Given the description of an element on the screen output the (x, y) to click on. 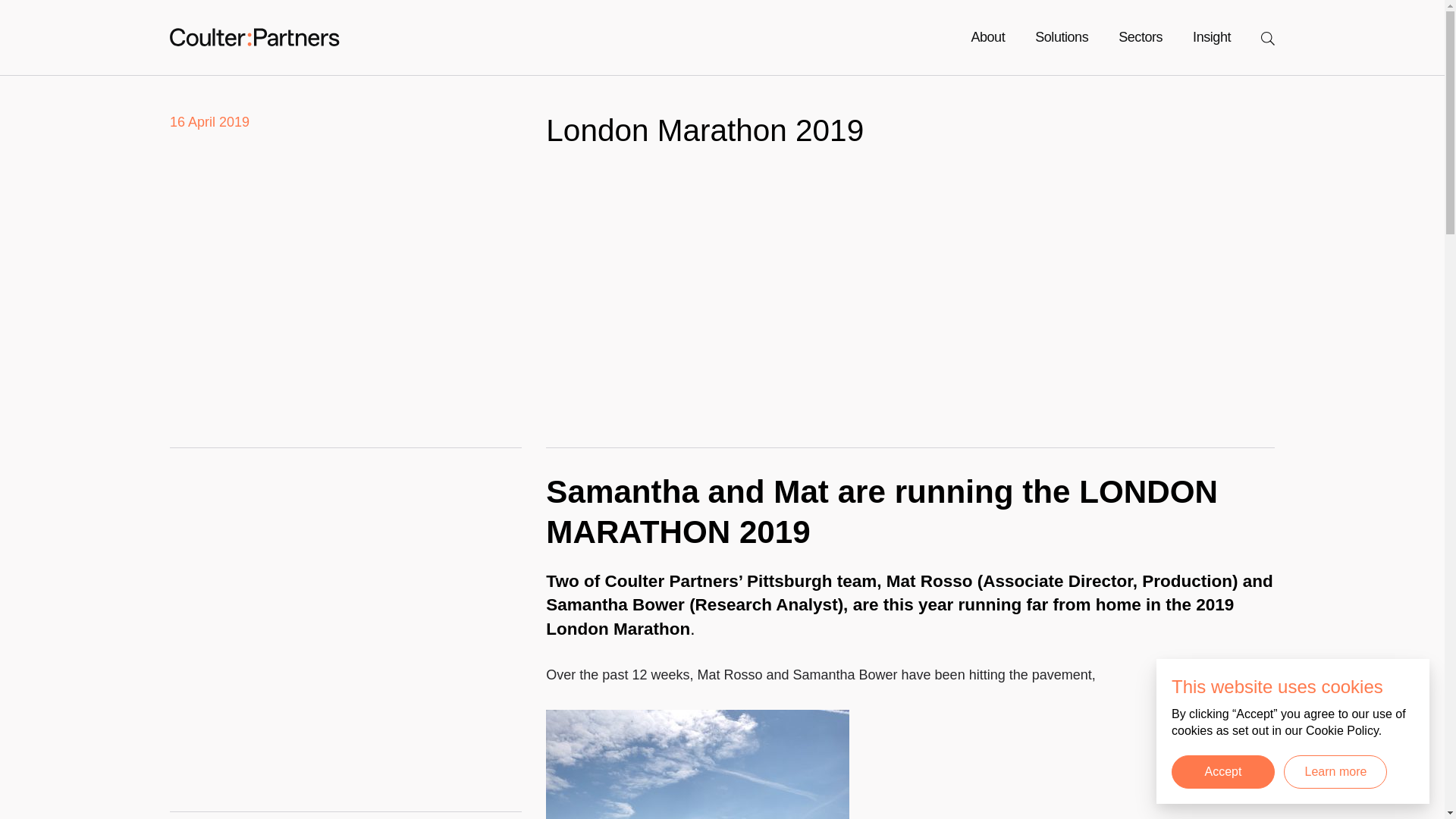
Menu (1267, 37)
Solutions (1061, 36)
Sectors (1139, 36)
Insight (1211, 36)
About (987, 36)
